Given the description of an element on the screen output the (x, y) to click on. 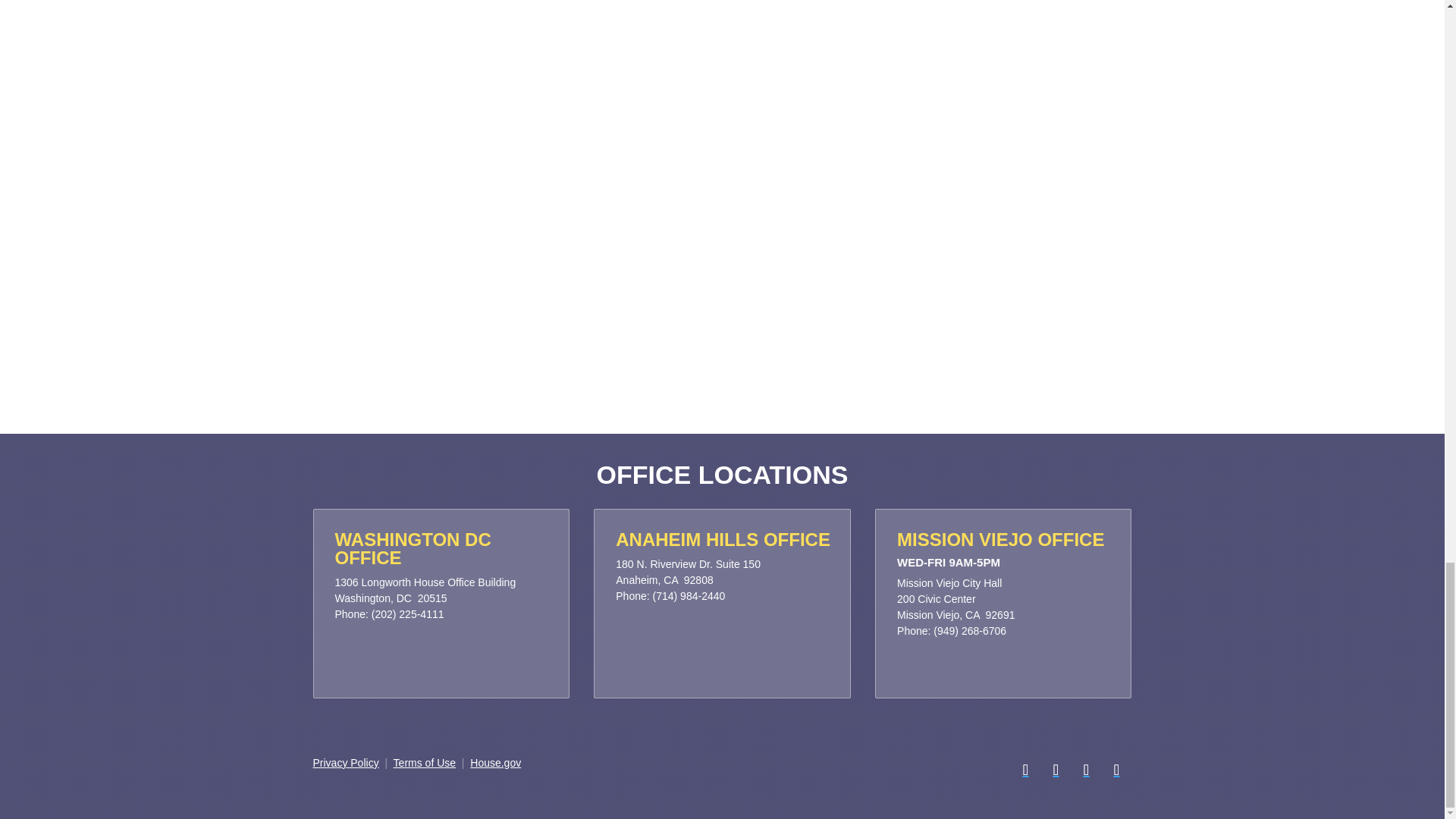
Follow on Facebook (1025, 769)
Follow on Youtube (1115, 769)
Follow on Instagram (1085, 769)
Follow on X (1055, 769)
